Given the description of an element on the screen output the (x, y) to click on. 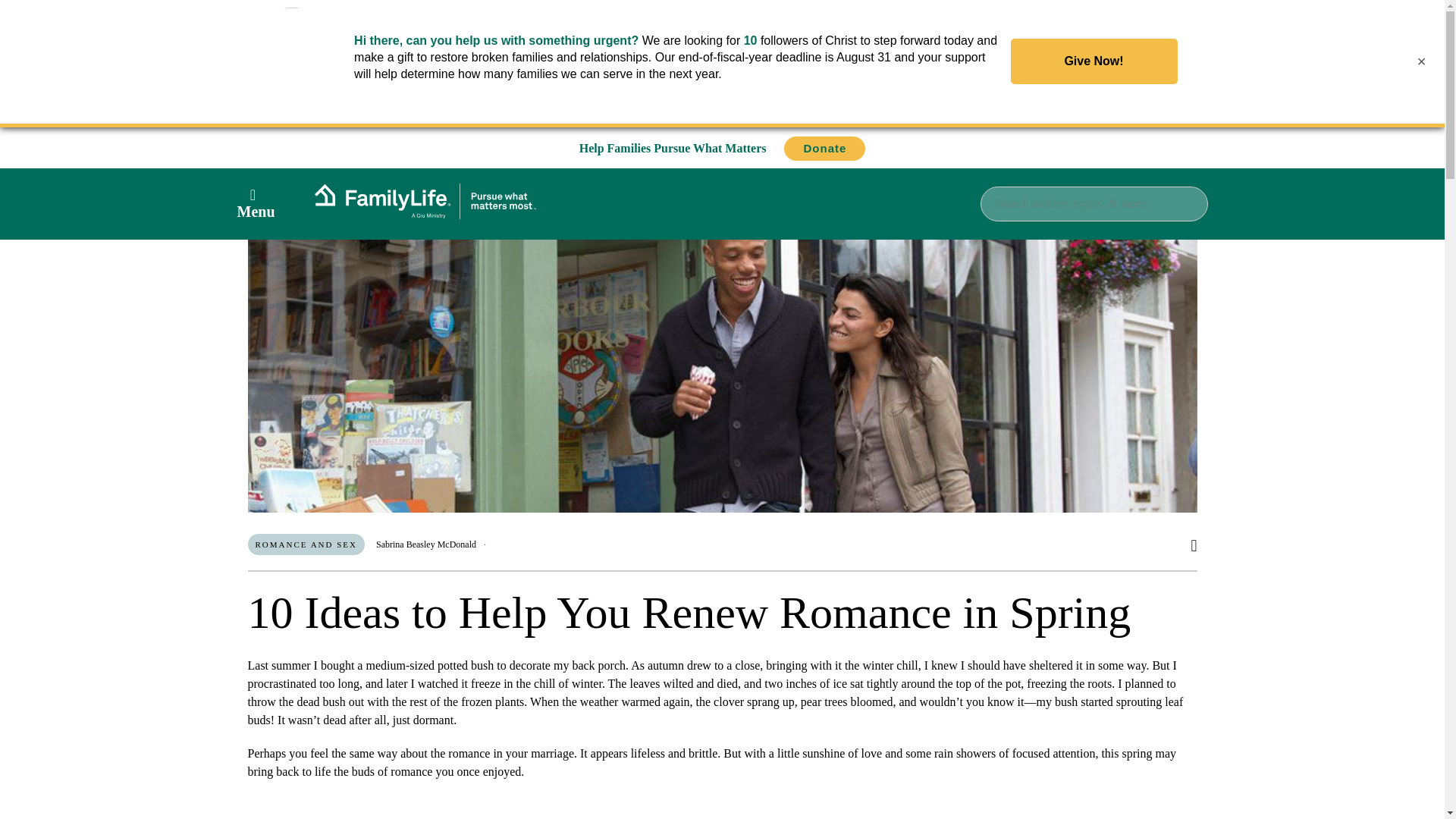
Help Families Pursue What Matters Donate (722, 147)
Search for: (1093, 203)
Give Now! (1093, 61)
Donate (824, 148)
Go Back to All Romance and Sex Resources (395, 169)
ROMANCE AND SEX (306, 544)
